Given the description of an element on the screen output the (x, y) to click on. 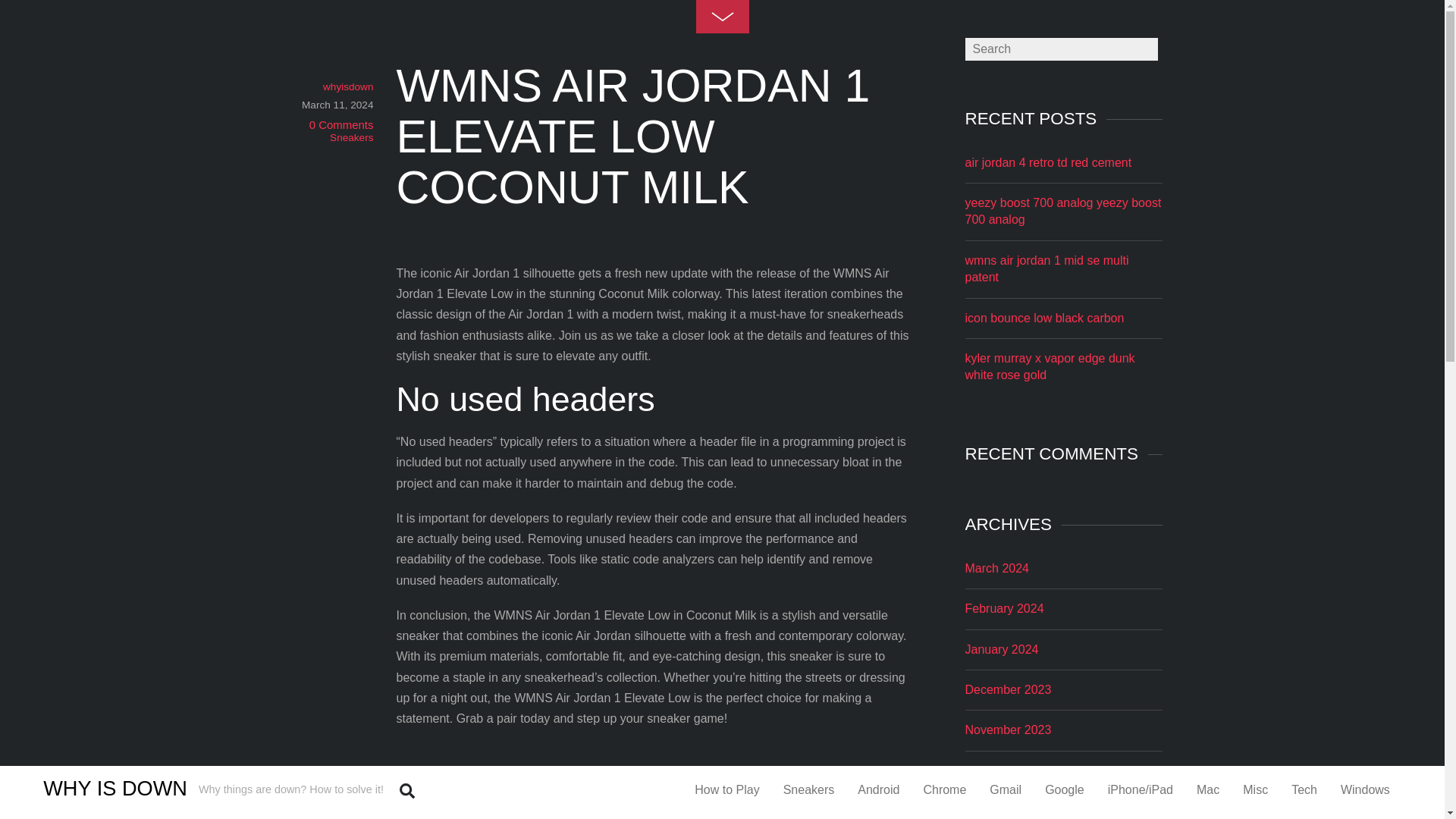
November 2023 (1007, 729)
December 2023 (1007, 689)
March 2021 (996, 810)
March 2024 (996, 567)
Sneakers (351, 137)
Windows (1364, 788)
Misc (1255, 788)
Android (878, 788)
Why is Down (115, 788)
icon bounce low black carbon (1043, 318)
